Given the description of an element on the screen output the (x, y) to click on. 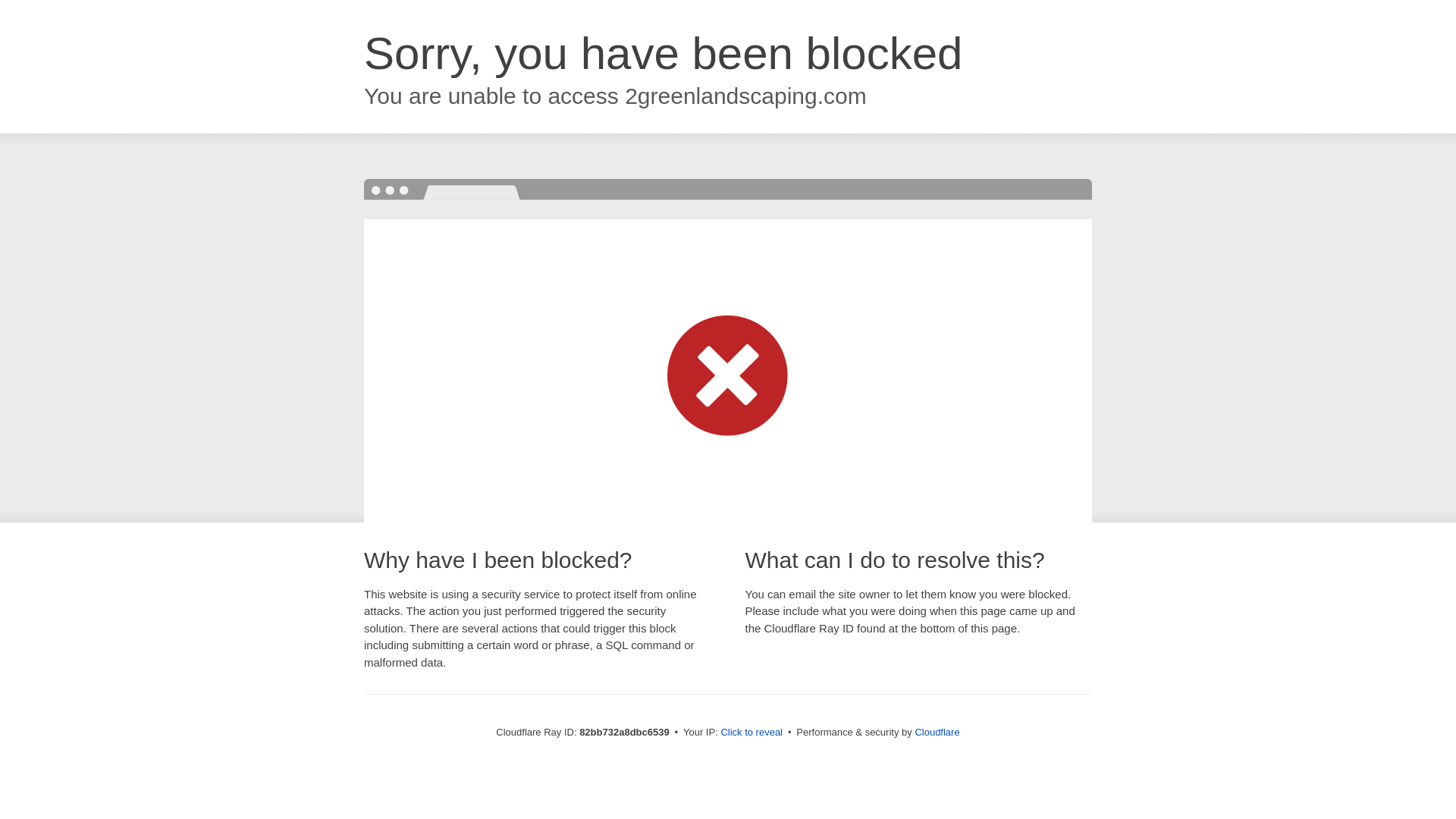
Click to reveal Element type: text (751, 732)
Cloudflare Element type: text (936, 731)
